Given the description of an element on the screen output the (x, y) to click on. 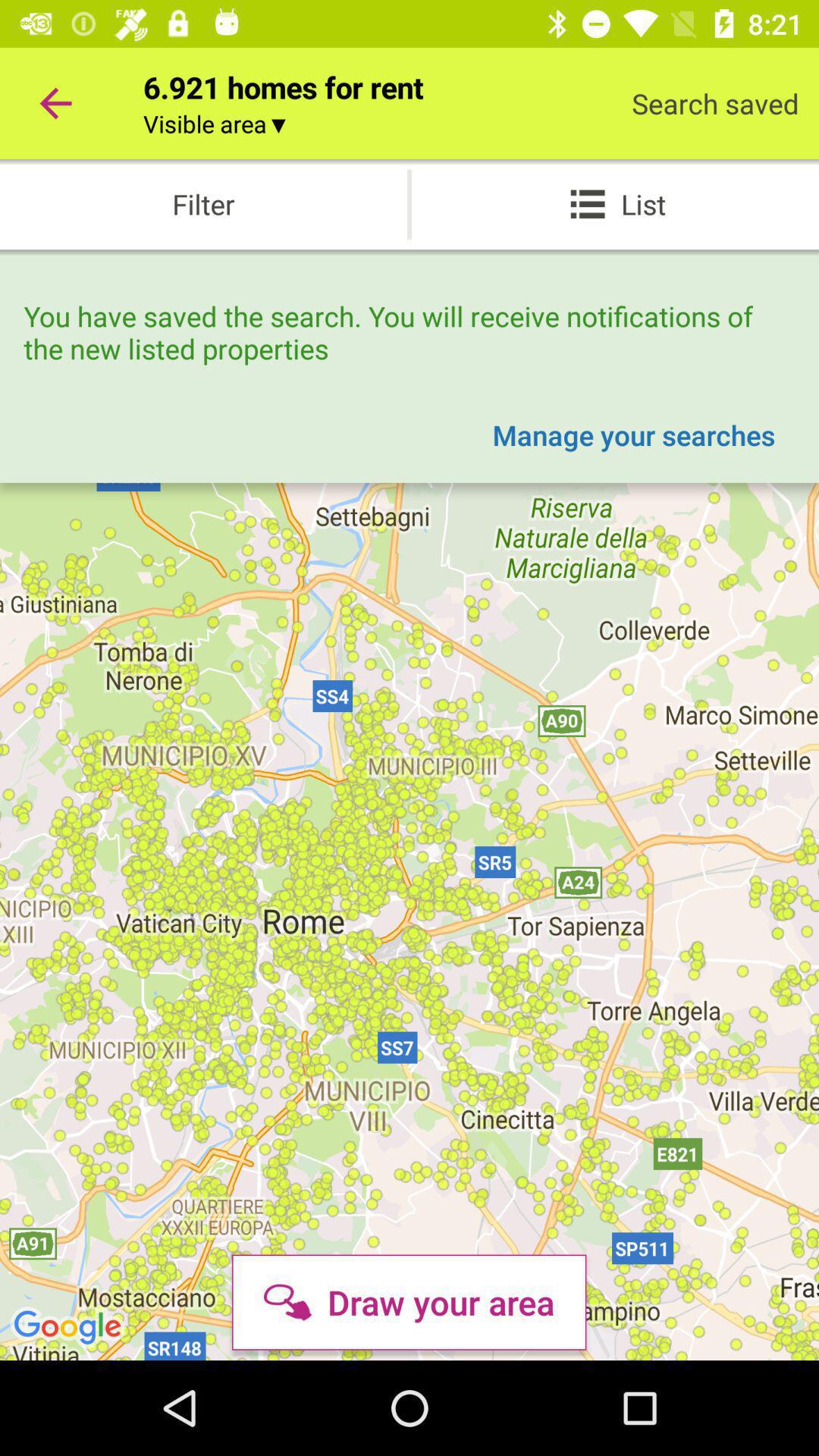
select item to the left of the 6 921 homes (55, 103)
